Given the description of an element on the screen output the (x, y) to click on. 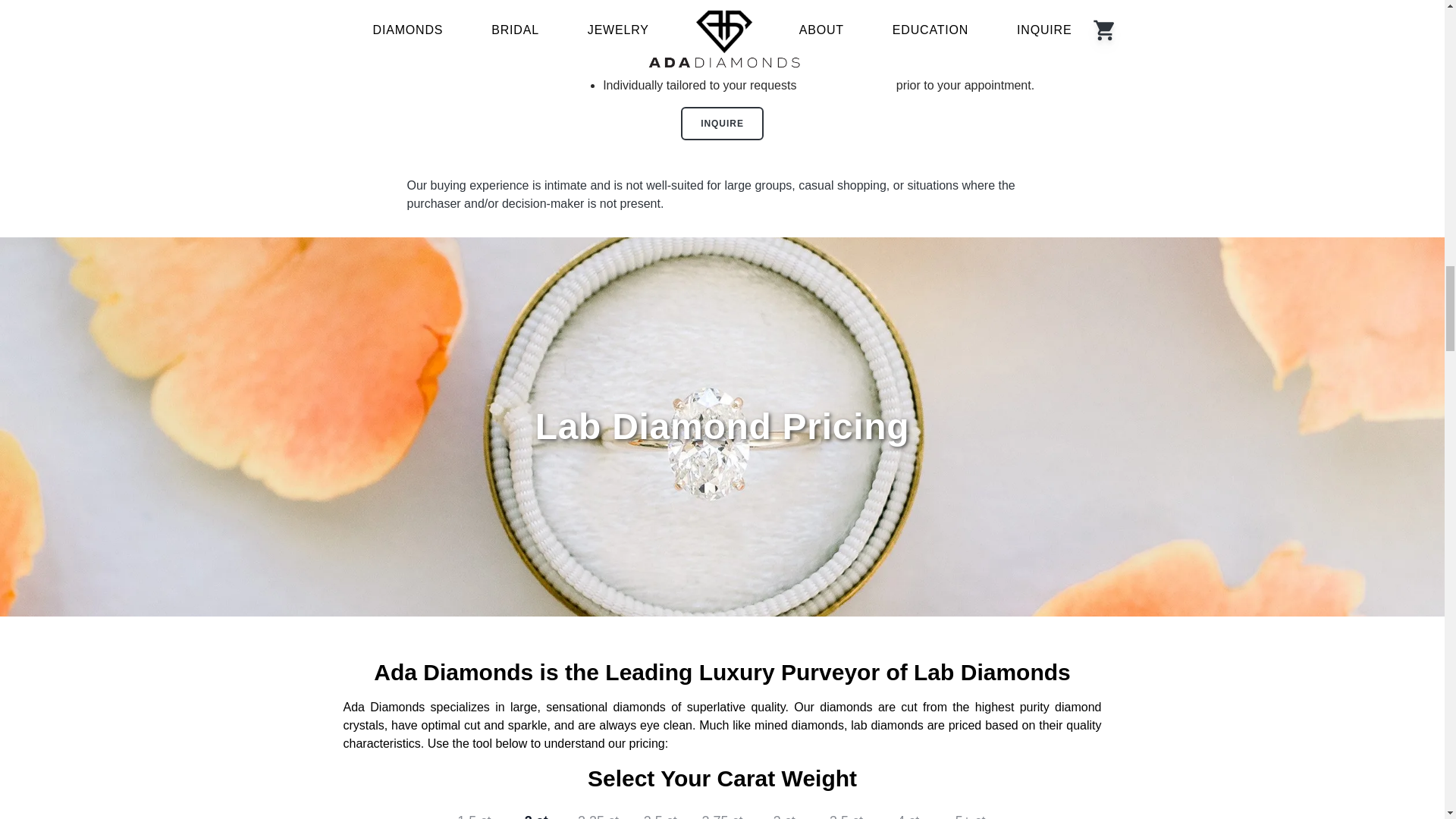
INQUIRE (721, 123)
2 ct (536, 811)
4 ct (908, 811)
3.5 ct (845, 811)
2.25 ct (598, 811)
2.75 ct (721, 811)
2.5 ct (659, 811)
3 ct (784, 811)
1.5 ct (473, 811)
